Given the description of an element on the screen output the (x, y) to click on. 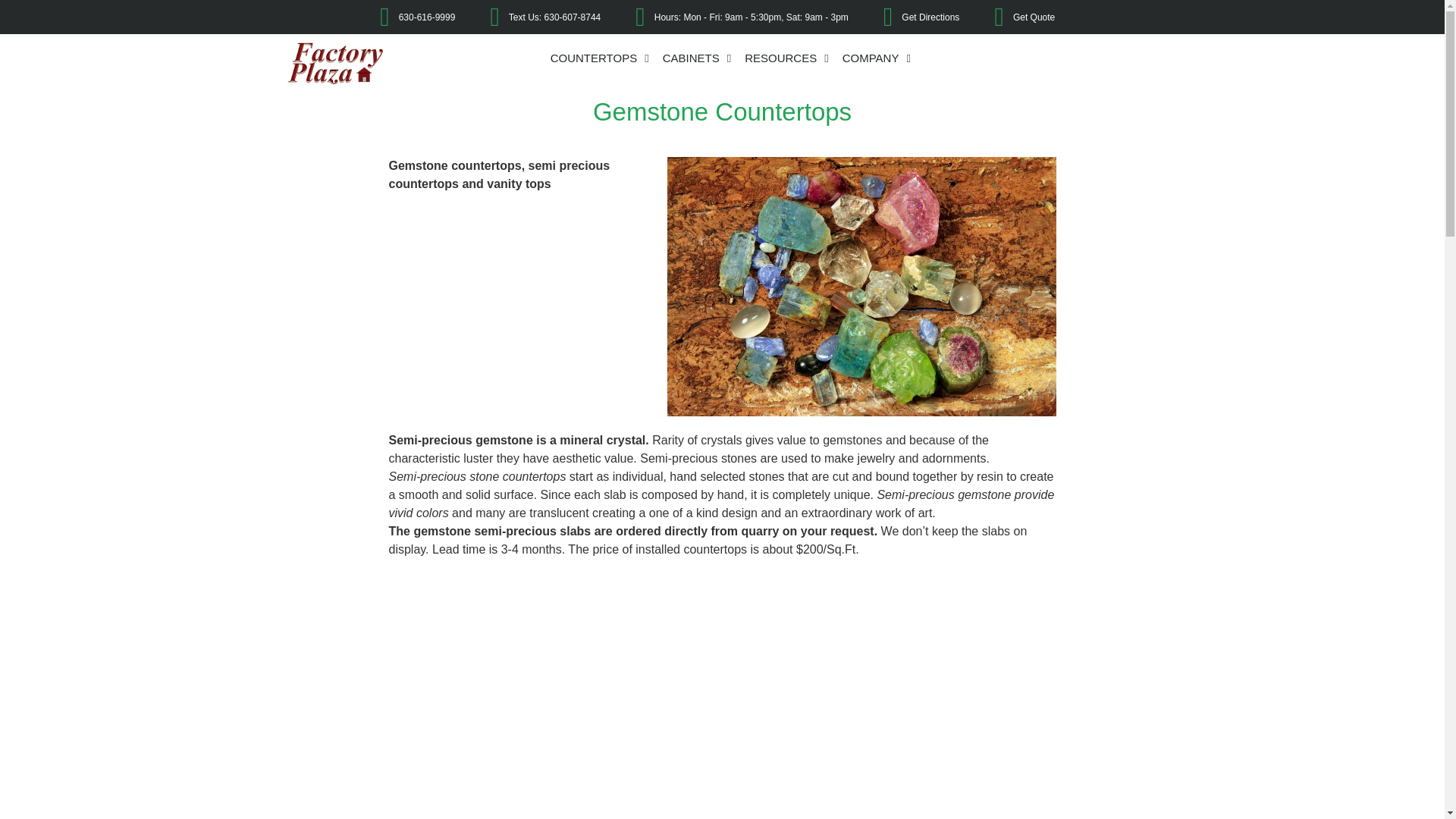
RESOURCES (786, 58)
Gemstone Countertops 1 (861, 286)
Text Us: 630-607-8744 (533, 17)
Get Directions (909, 17)
630-616-9999 (405, 17)
Get Quote (1012, 17)
COUNTERTOPS (599, 58)
CABINETS (697, 58)
